Given the description of an element on the screen output the (x, y) to click on. 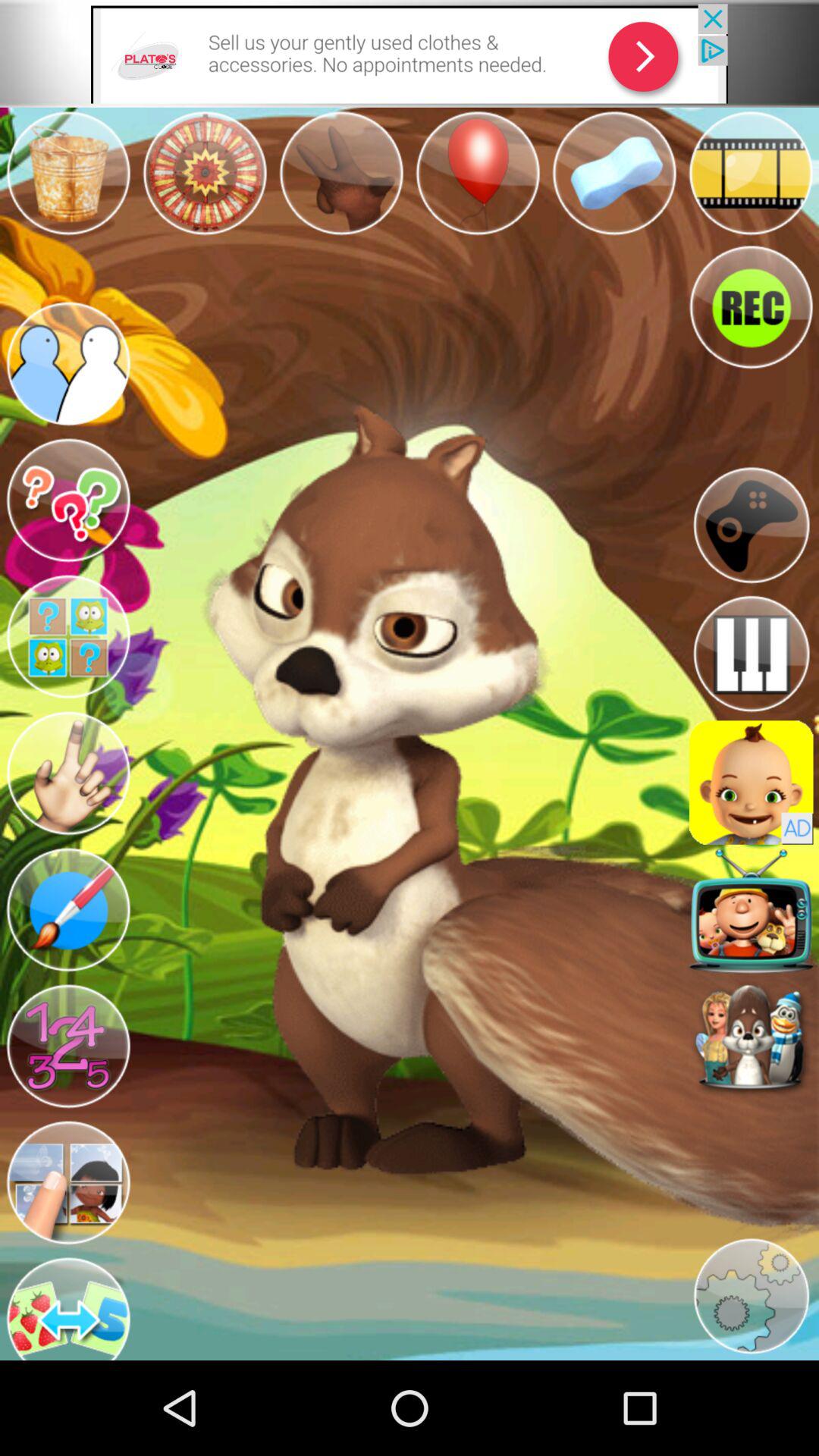
app button (751, 910)
